Given the description of an element on the screen output the (x, y) to click on. 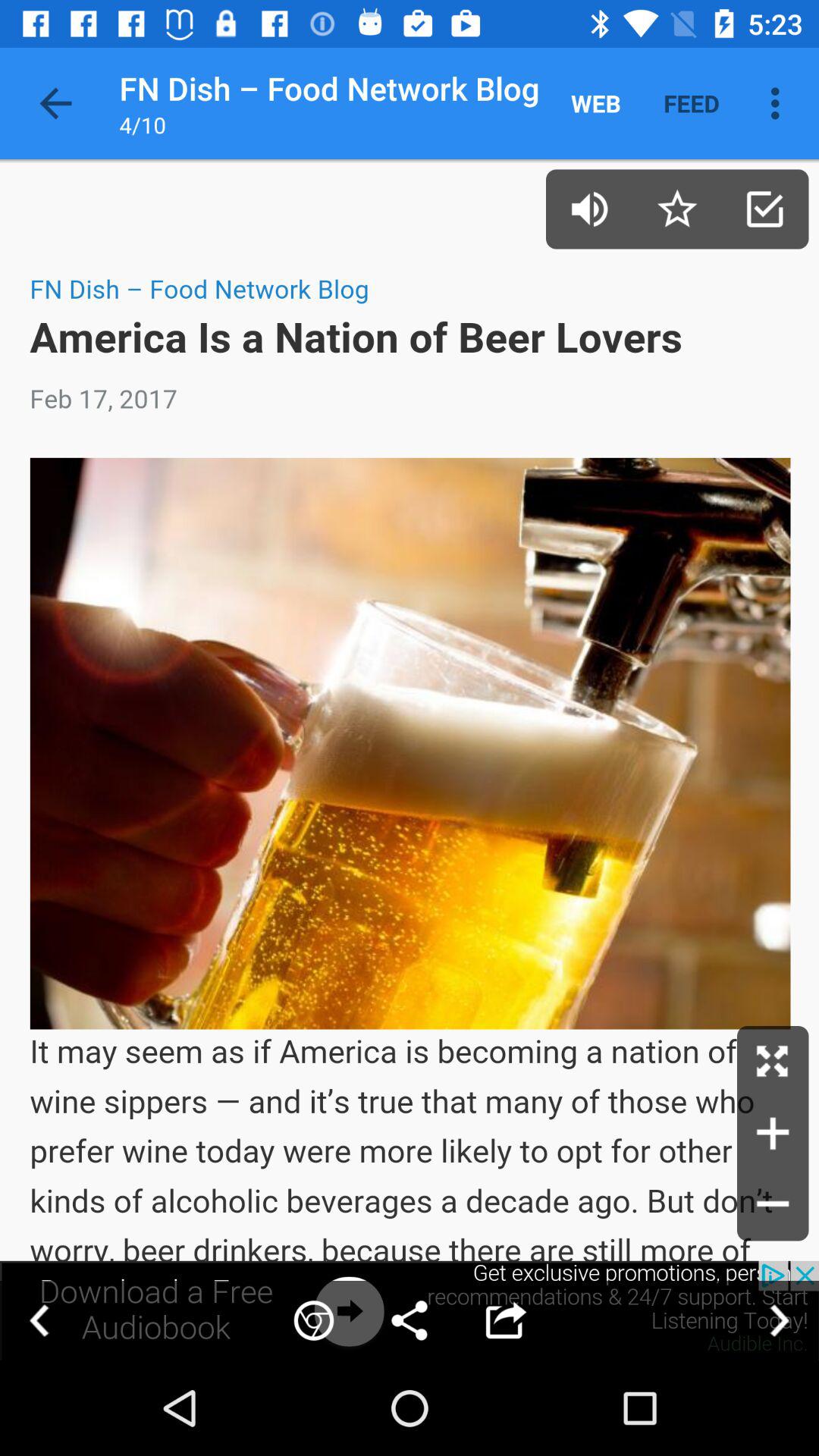
share the article (409, 1310)
